Given the description of an element on the screen output the (x, y) to click on. 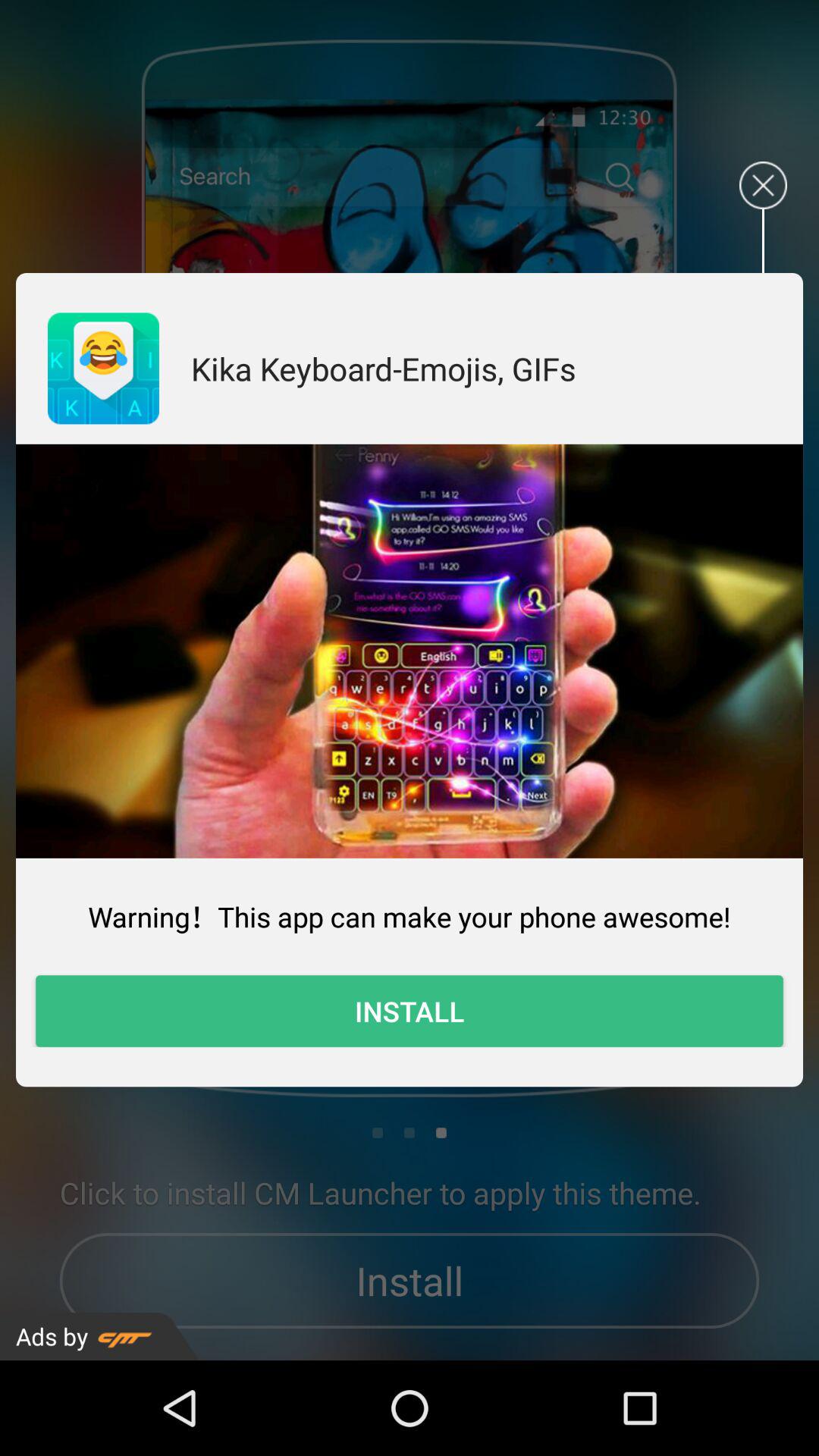
turn off install (409, 1011)
